Given the description of an element on the screen output the (x, y) to click on. 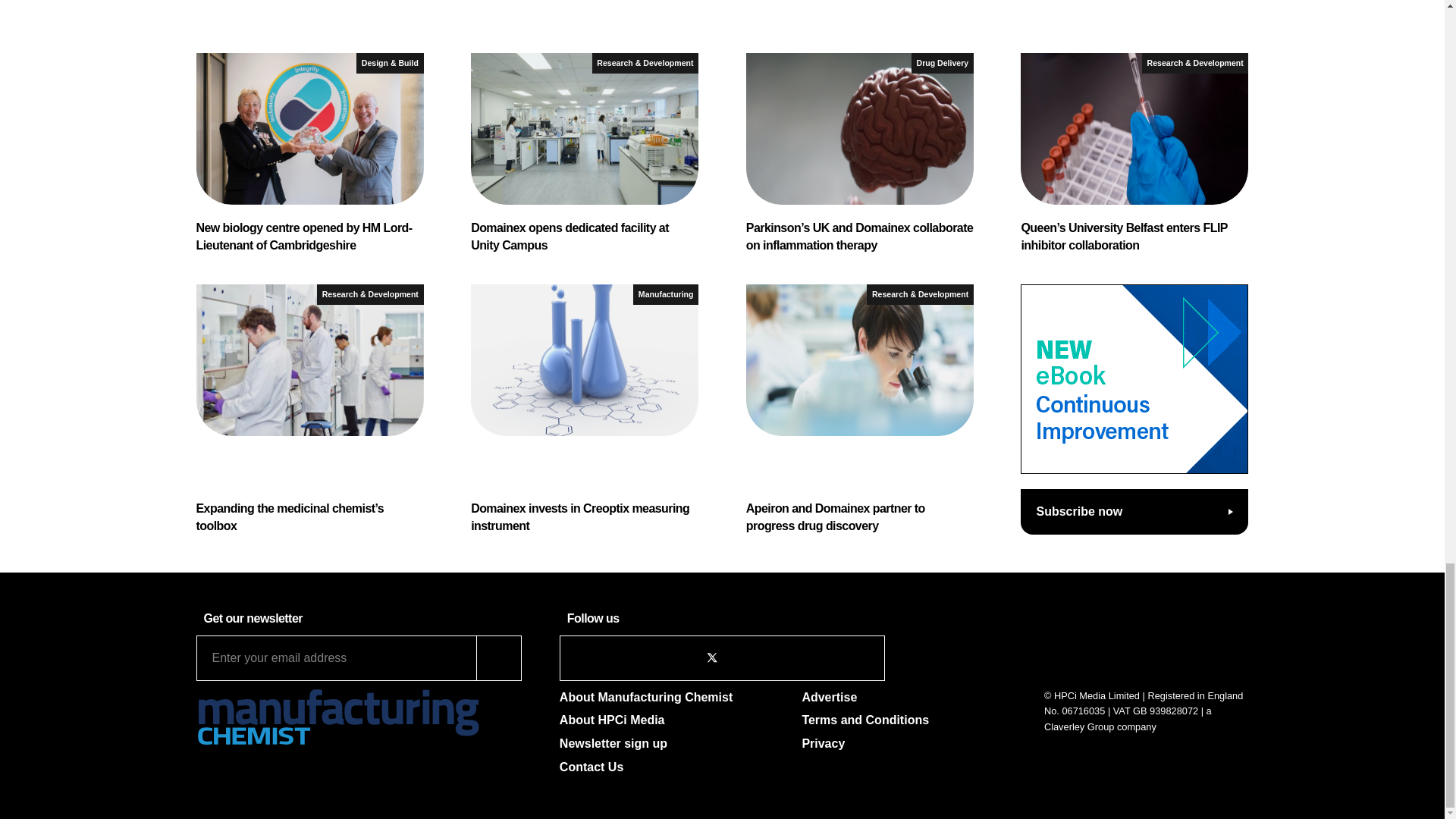
Follow Manufacturing Chemist on X (711, 656)
